Given the description of an element on the screen output the (x, y) to click on. 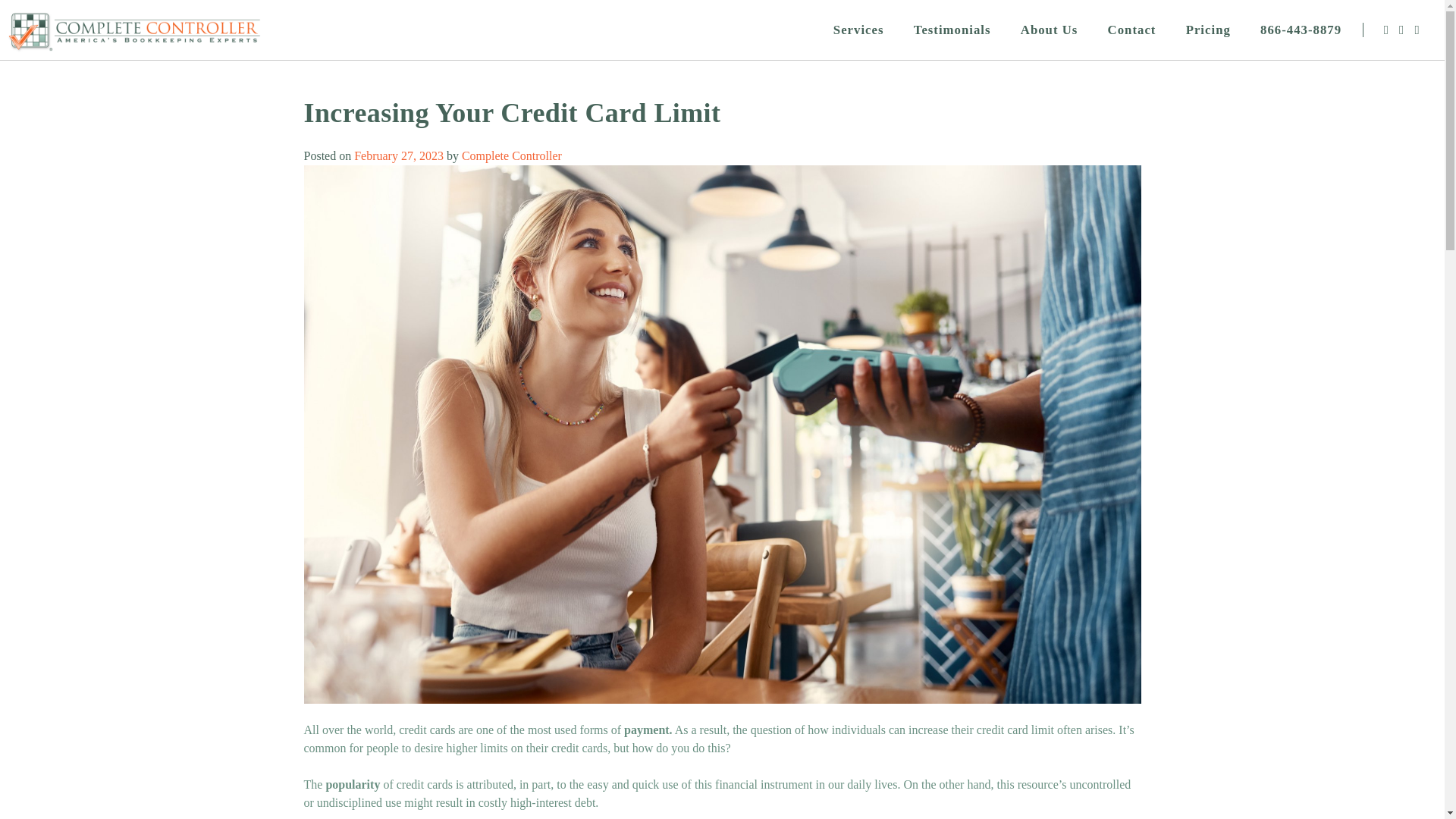
Contact (1131, 29)
Pricing (1208, 29)
Testimonials (951, 29)
Services (858, 29)
866-443-8879 (1300, 29)
Complete Controller (511, 155)
About Us (1048, 29)
February 27, 2023 (398, 155)
